Given the description of an element on the screen output the (x, y) to click on. 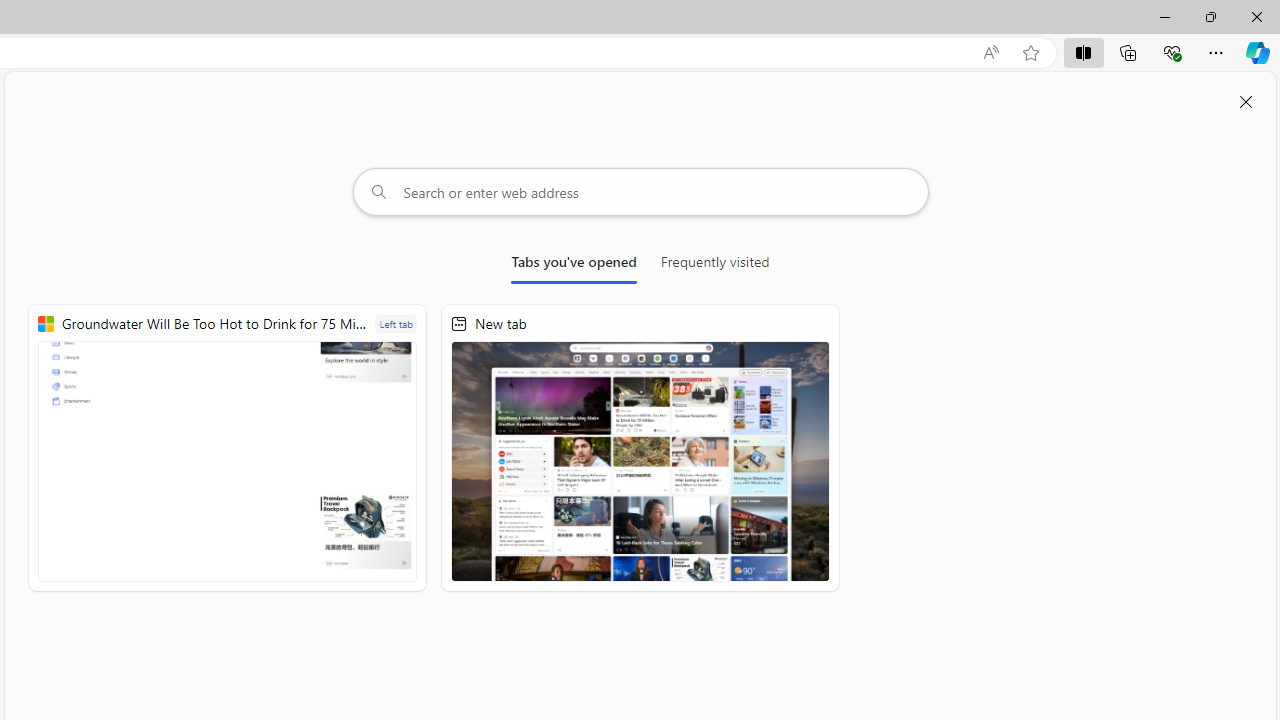
Collections (1128, 52)
